Given the description of an element on the screen output the (x, y) to click on. 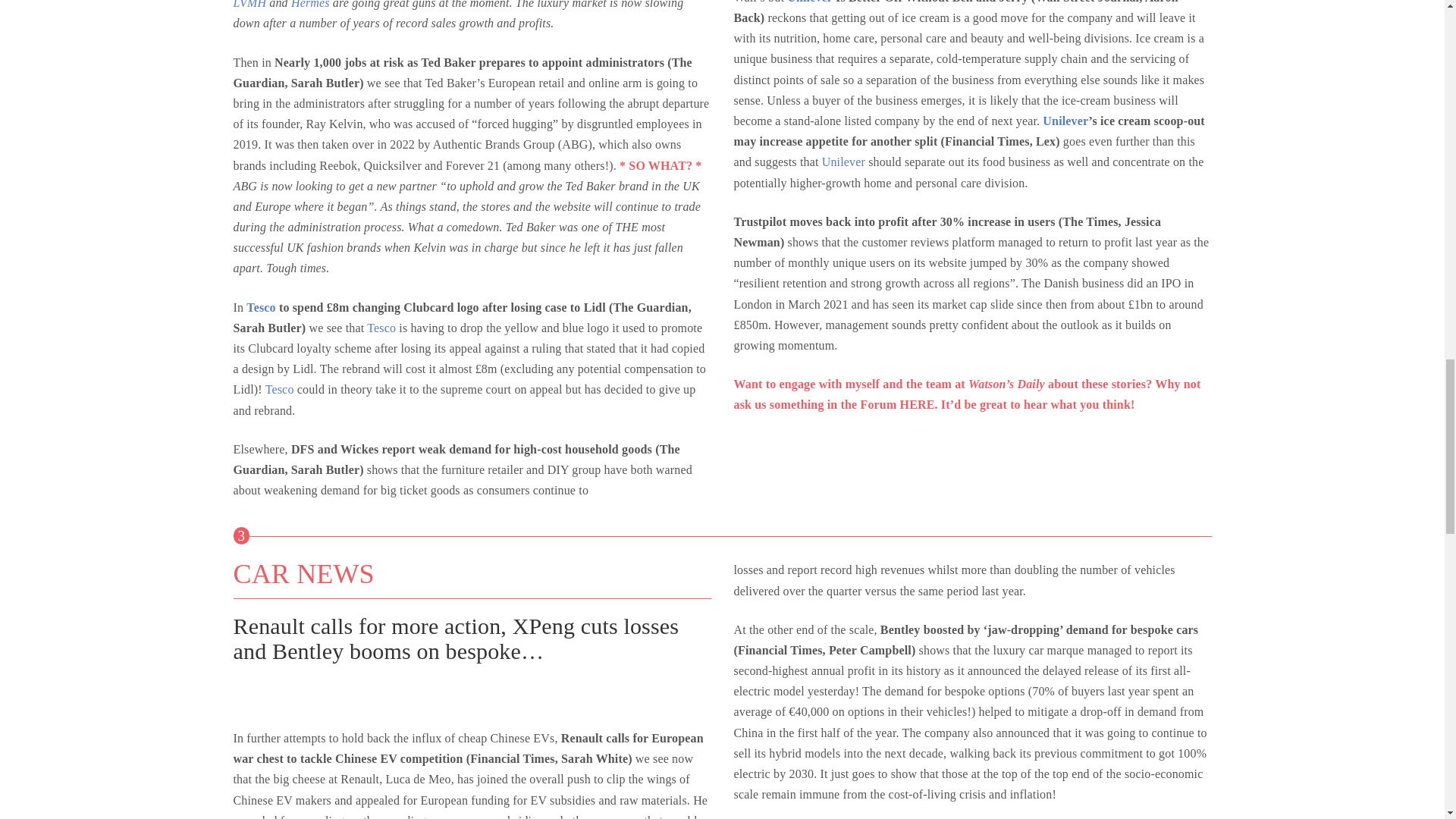
LVMH (249, 4)
